Given the description of an element on the screen output the (x, y) to click on. 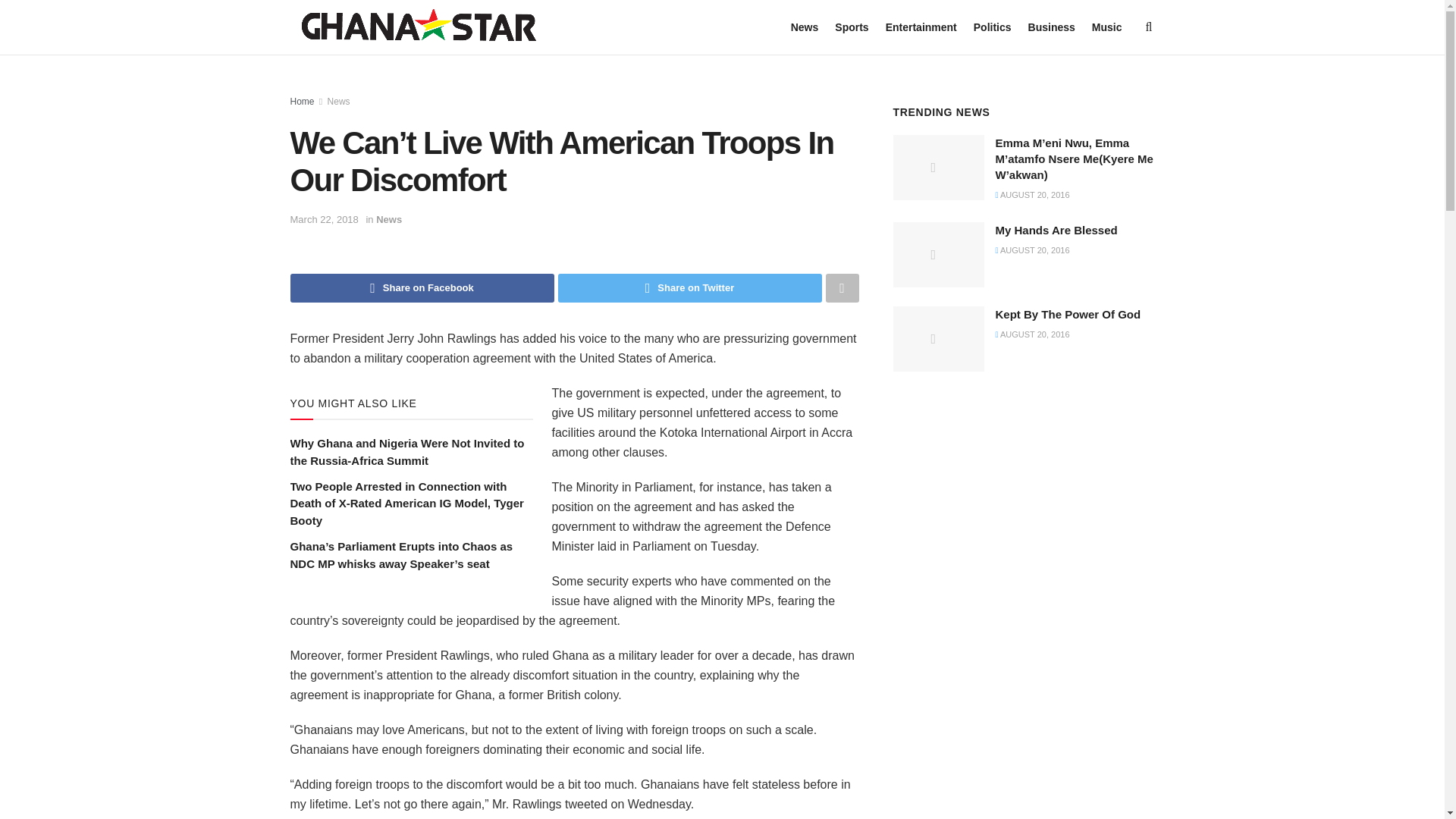
March 22, 2018 (323, 219)
Home (301, 101)
News (338, 101)
Business (1051, 26)
Politics (992, 26)
Sports (850, 26)
Entertainment (920, 26)
Share on Twitter (689, 287)
News (804, 26)
Share on Facebook (421, 287)
News (388, 219)
Music (1107, 26)
